Given the description of an element on the screen output the (x, y) to click on. 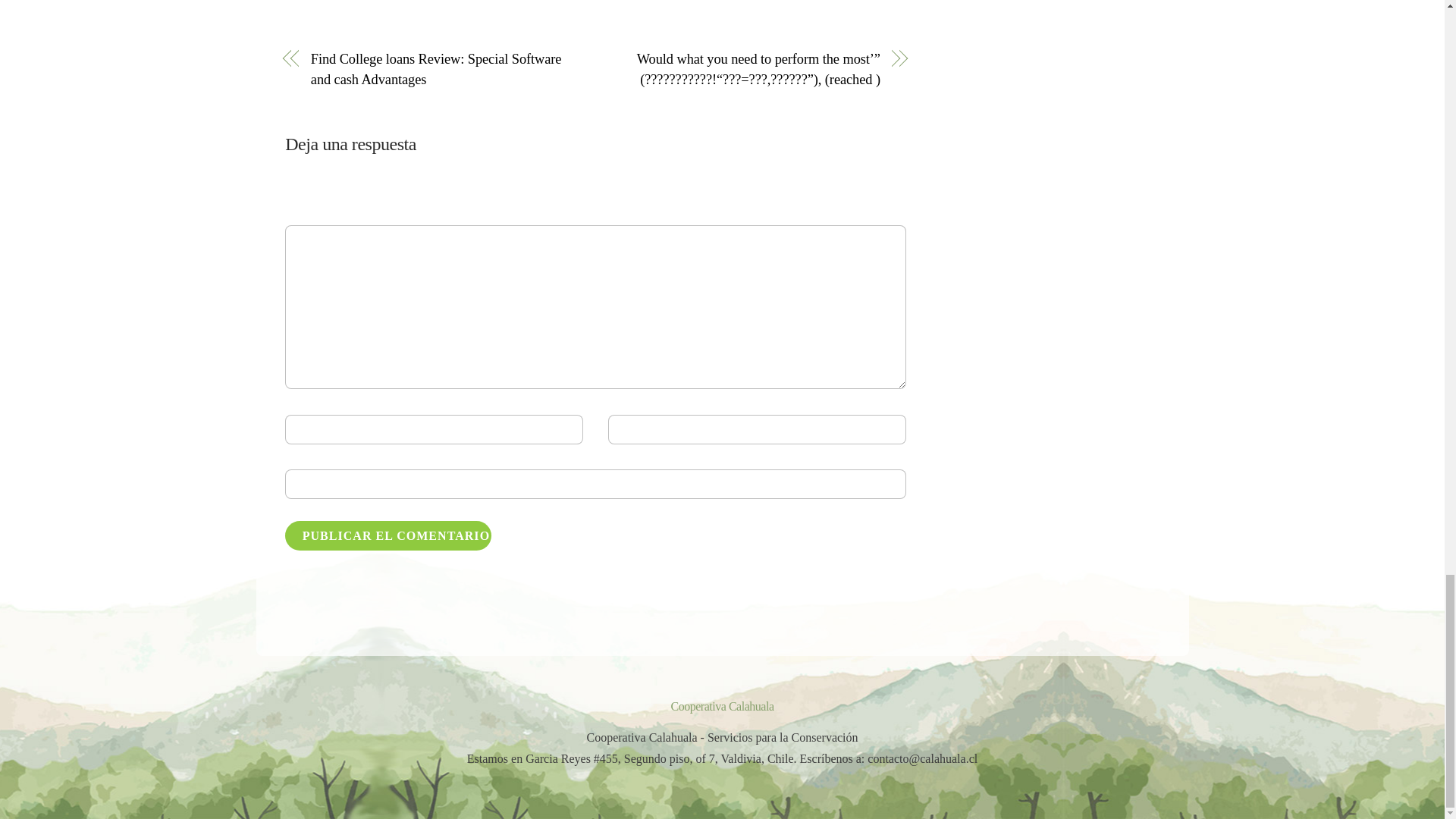
Cooperativa Calahuala (721, 706)
Publicar el comentario (388, 535)
Publicar el comentario (388, 535)
Cooperativa Calahuala (721, 706)
